Given the description of an element on the screen output the (x, y) to click on. 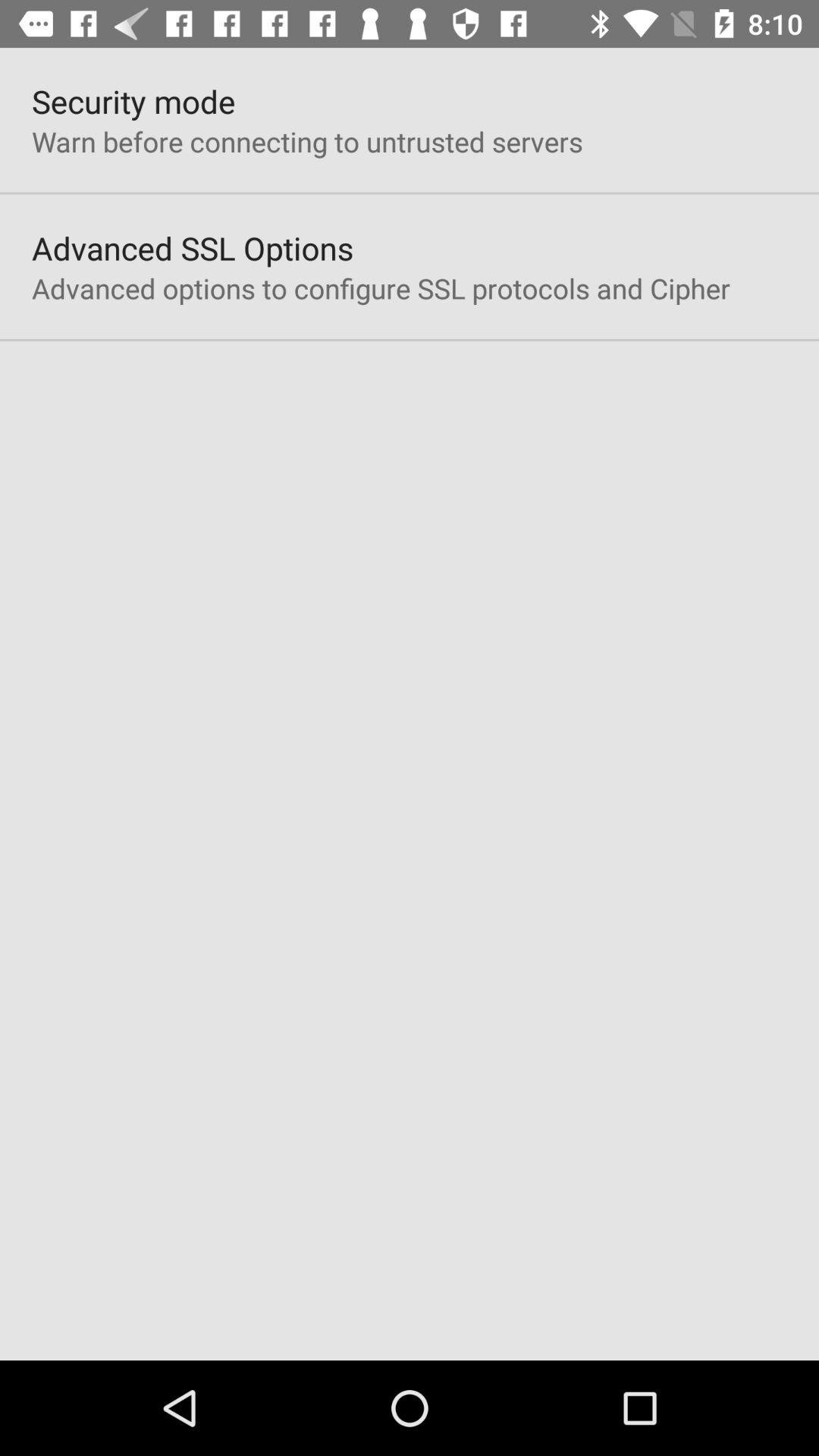
turn on the icon below the security mode item (306, 141)
